Given the description of an element on the screen output the (x, y) to click on. 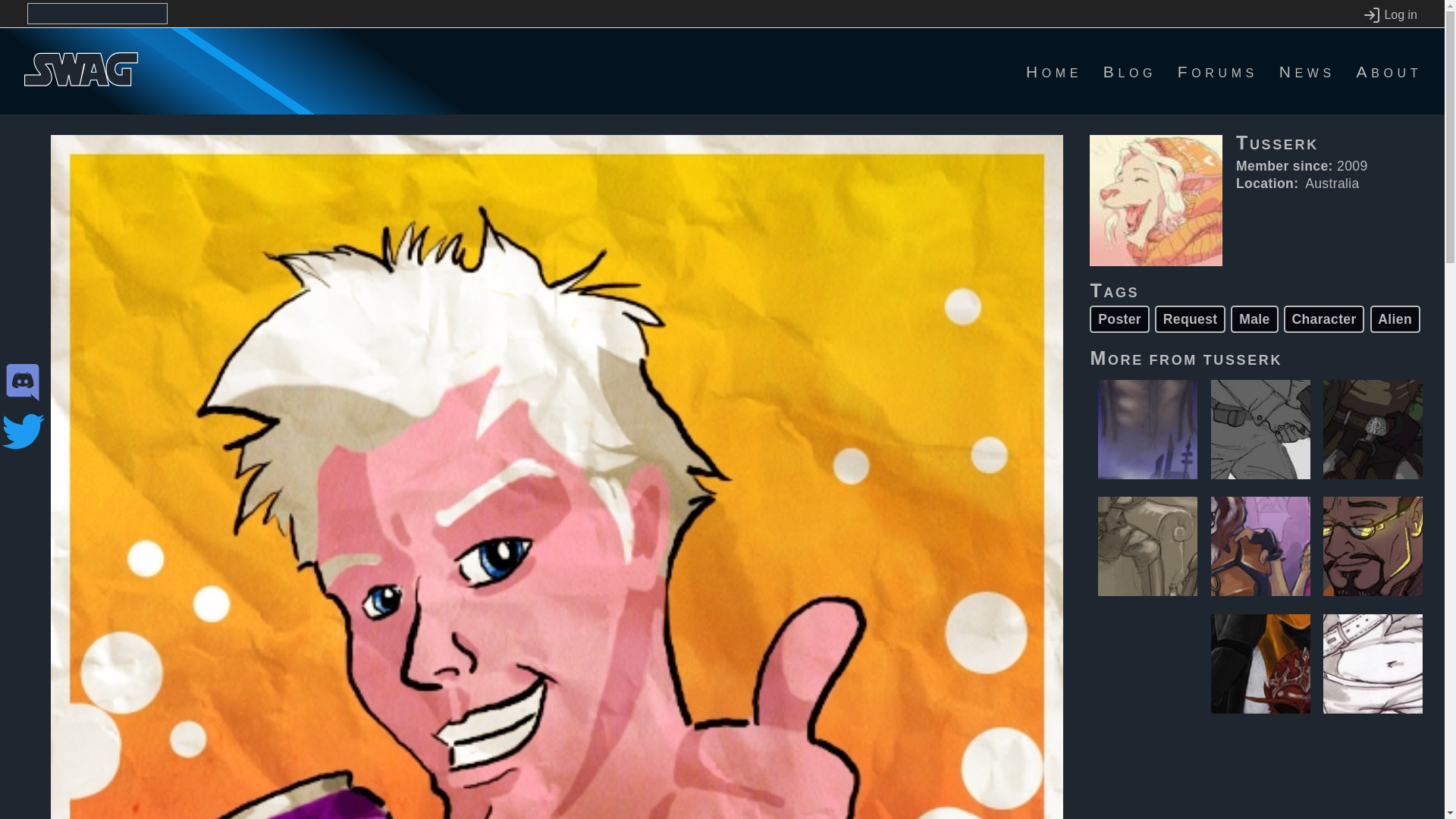
Forums (1217, 71)
About (1389, 71)
Home (1053, 71)
Log in (1389, 14)
News (1307, 71)
View user profile. (1243, 357)
Blog (1129, 71)
Enter the terms you wish to search for. (97, 13)
